Given the description of an element on the screen output the (x, y) to click on. 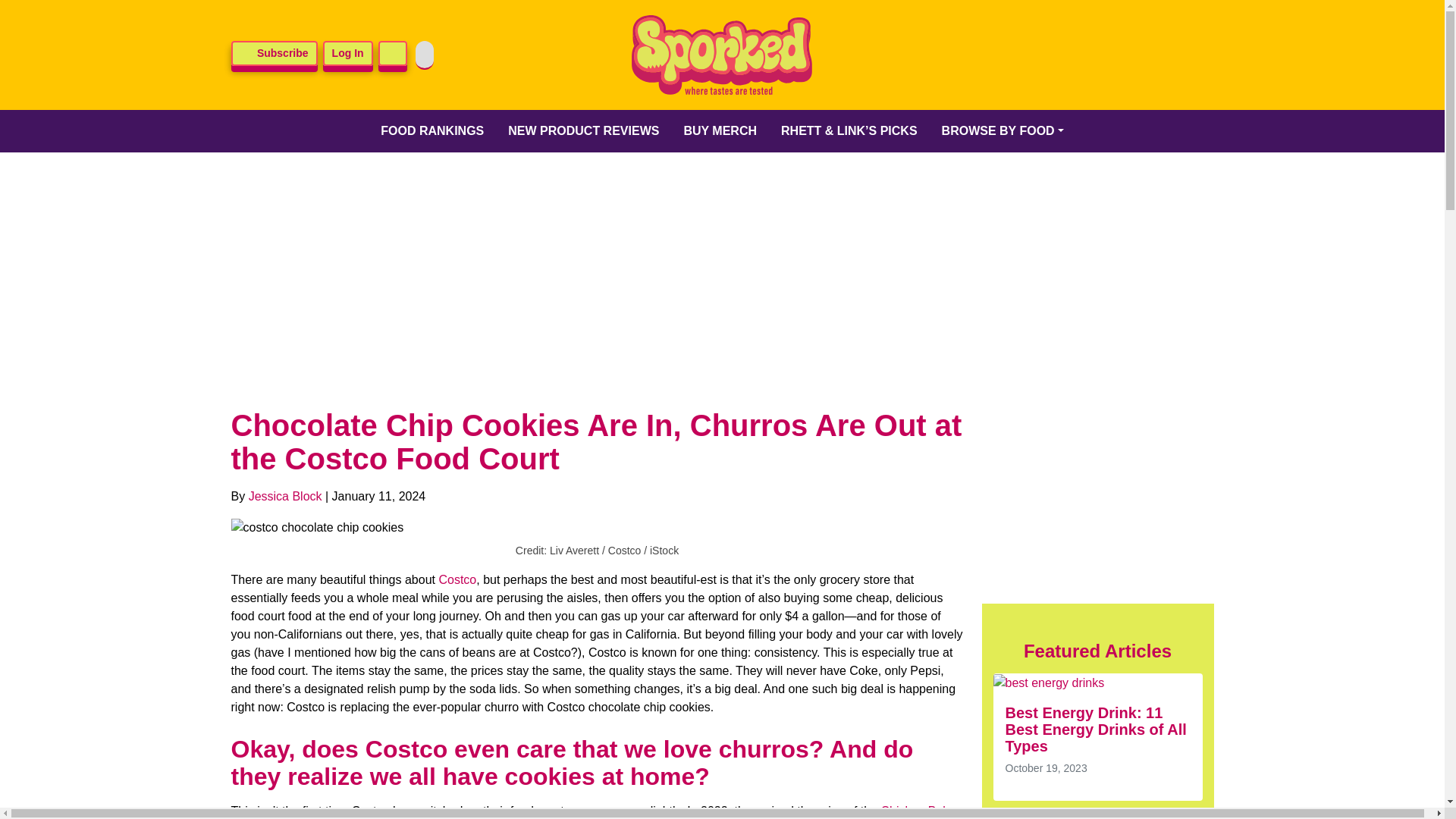
BUY MERCH (719, 130)
Facebook, opens in new tab (1035, 54)
Search (392, 53)
Posts by Jessica Block (284, 495)
FOOD RANKINGS (432, 130)
NEW PRODUCT REVIEWS (583, 130)
YouTube, opens in new tab (1153, 54)
Search for: (423, 54)
Instagram, opens in new tab (1074, 54)
BROWSE BY FOOD (1002, 130)
Twitter, opens in new tab (996, 54)
Log In (347, 53)
Subscribe (273, 53)
Flipboard, opens in new tab (1192, 54)
Tiktok, opens in new tab (1114, 54)
